Given the description of an element on the screen output the (x, y) to click on. 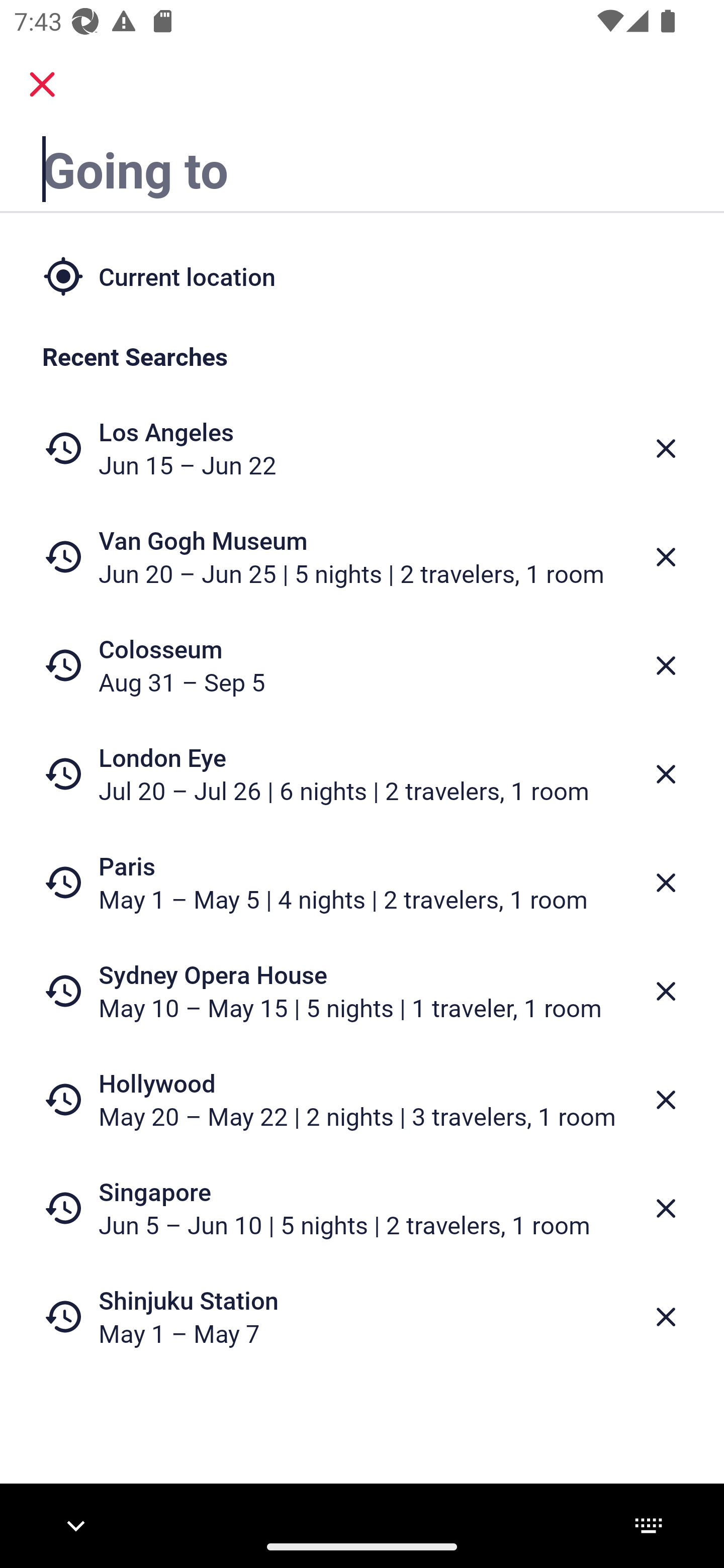
close. (42, 84)
Current location (362, 275)
Los Angeles Jun 15 – Jun 22 (362, 448)
Delete from recent searches (666, 448)
Delete from recent searches (666, 556)
Colosseum Aug 31 – Sep 5 (362, 665)
Delete from recent searches (666, 666)
Delete from recent searches (666, 774)
Delete from recent searches (666, 882)
Delete from recent searches (666, 990)
Delete from recent searches (666, 1100)
Delete from recent searches (666, 1208)
Shinjuku Station May 1 – May 7 (362, 1316)
Delete from recent searches (666, 1316)
